Given the description of an element on the screen output the (x, y) to click on. 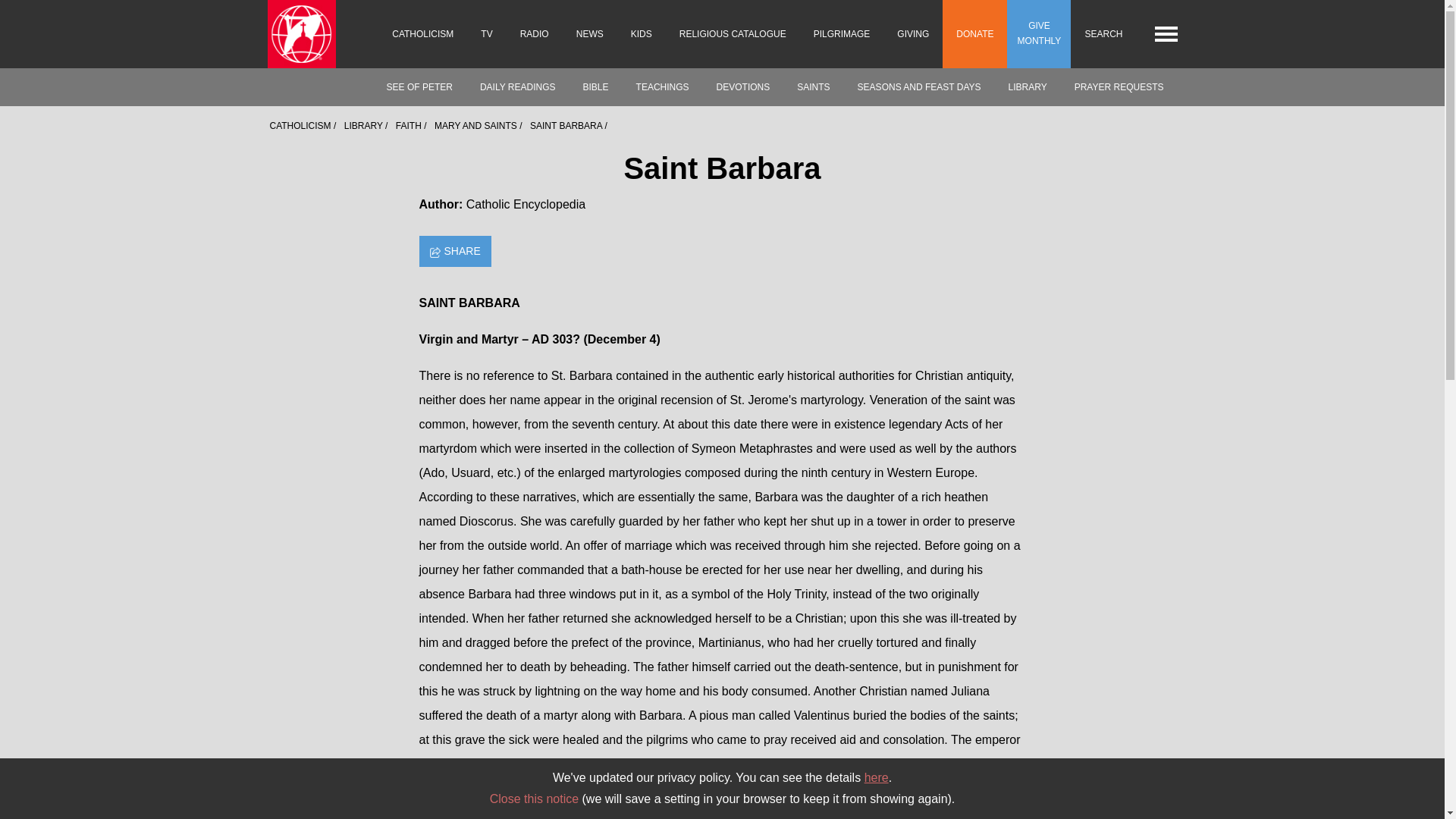
SEARCH (1102, 33)
CATHOLICISM (422, 33)
PILGRIMAGE (841, 33)
RELIGIOUS CATALOGUE (732, 33)
DONATE (974, 33)
GIVE MONTHLY (1038, 33)
